Given the description of an element on the screen output the (x, y) to click on. 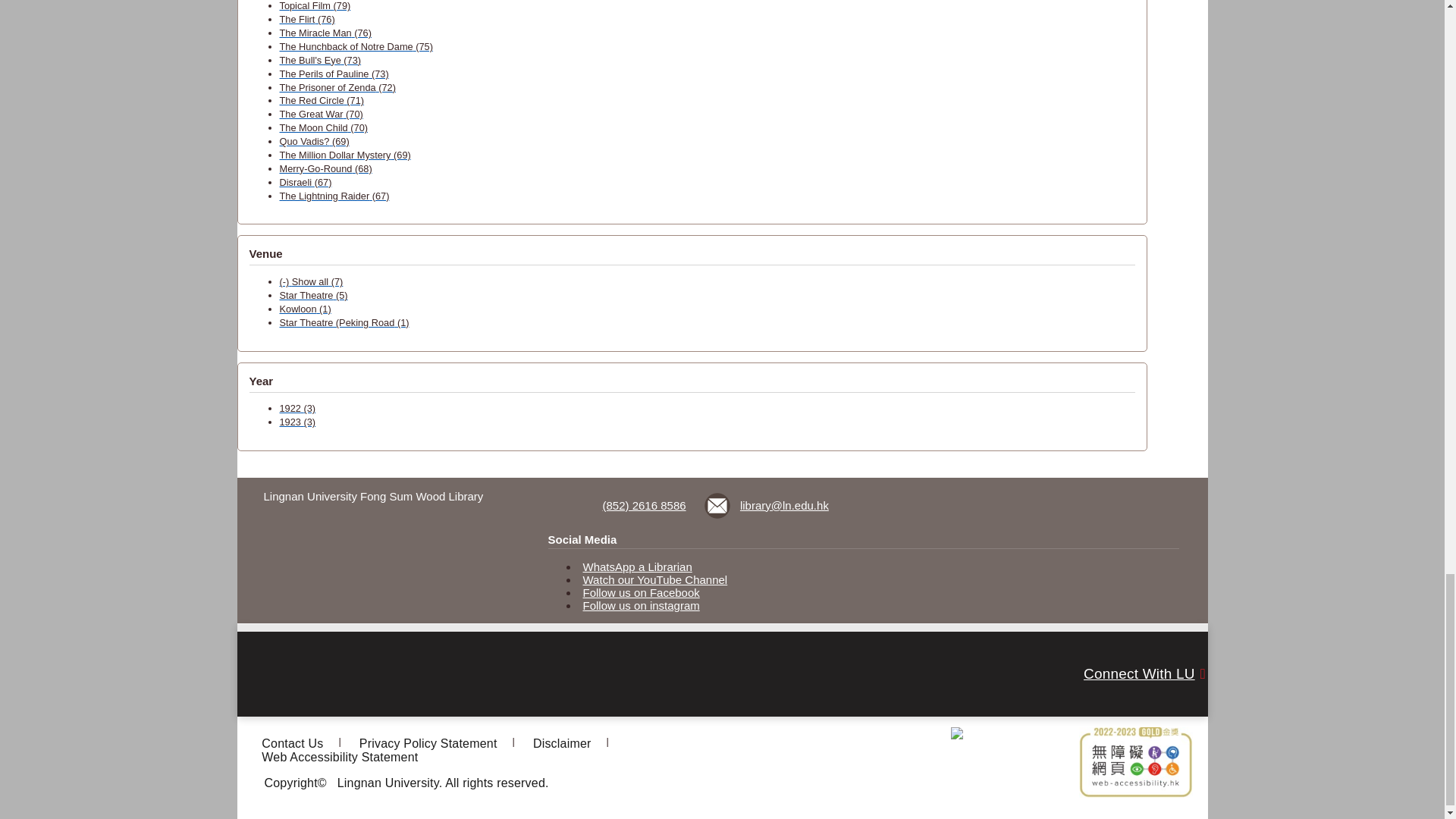
Email (766, 505)
WhatsApp a Librarian (638, 566)
Follow us on instagram (641, 604)
Watch our YouTube Channel (655, 579)
Follow us on Facebook (641, 592)
Phone Number (629, 505)
